Given the description of an element on the screen output the (x, y) to click on. 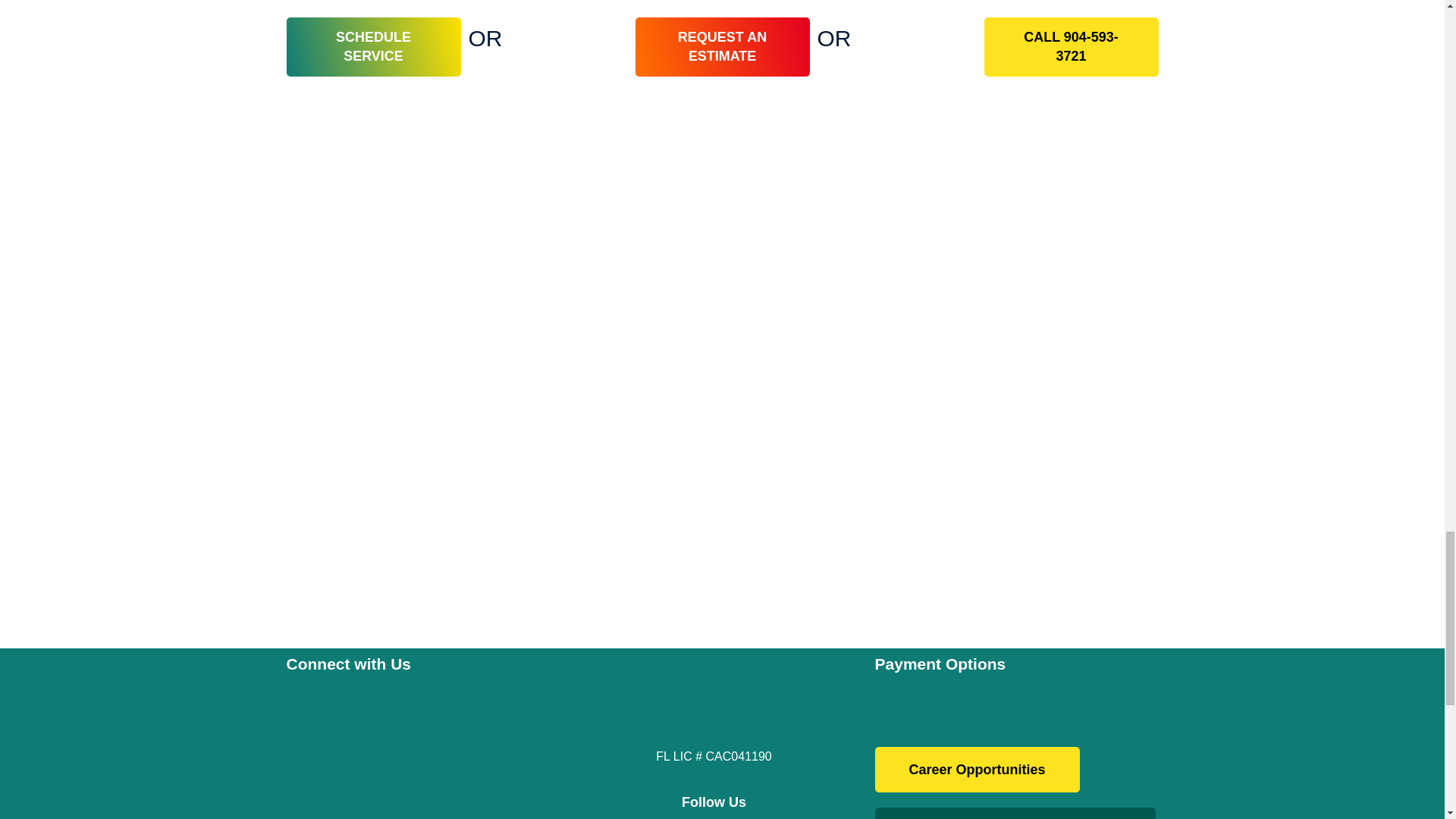
Google Map (419, 743)
